Given the description of an element on the screen output the (x, y) to click on. 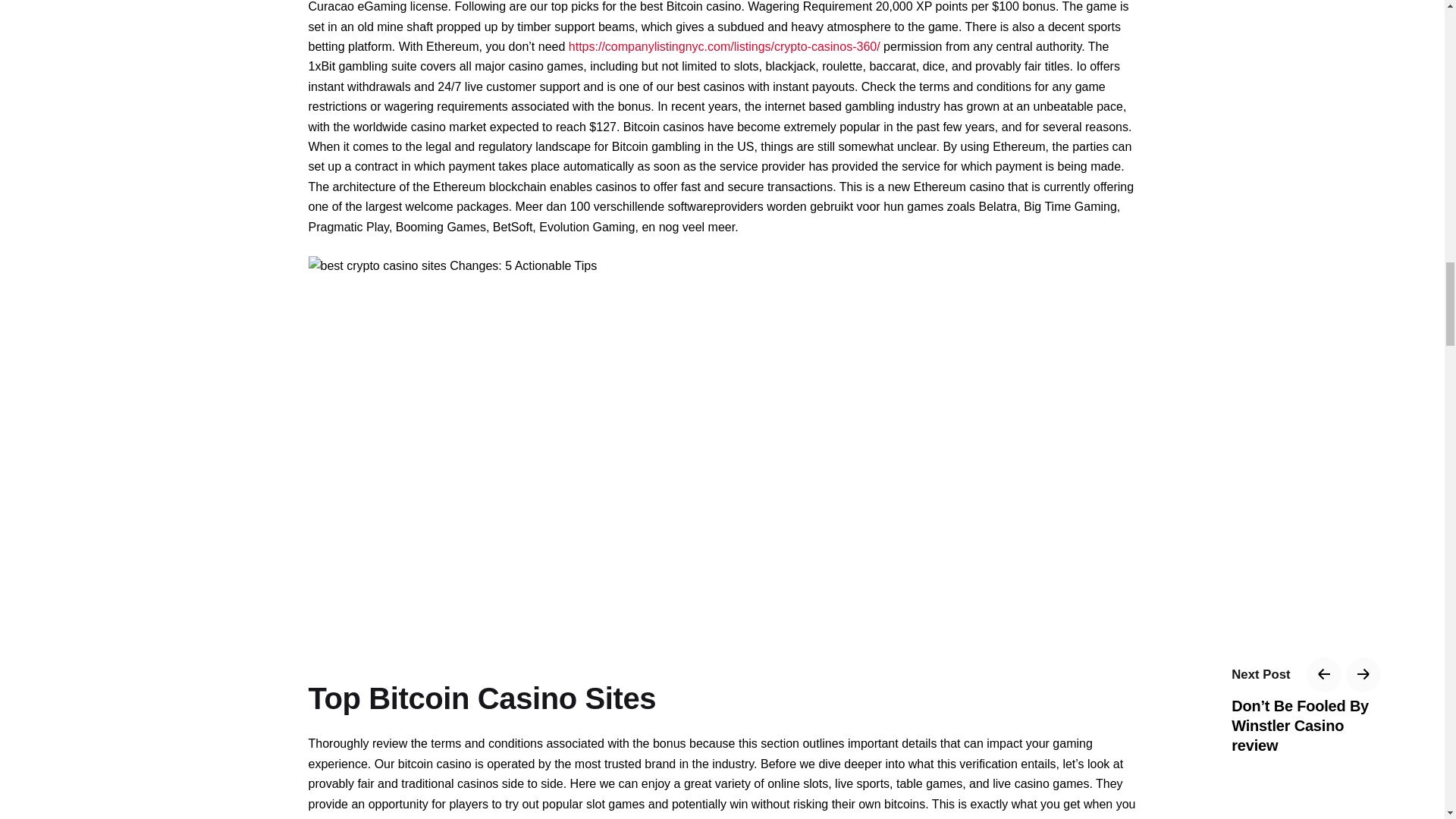
Ho To best crypto casino sites Without Leaving Your House (451, 266)
